Given the description of an element on the screen output the (x, y) to click on. 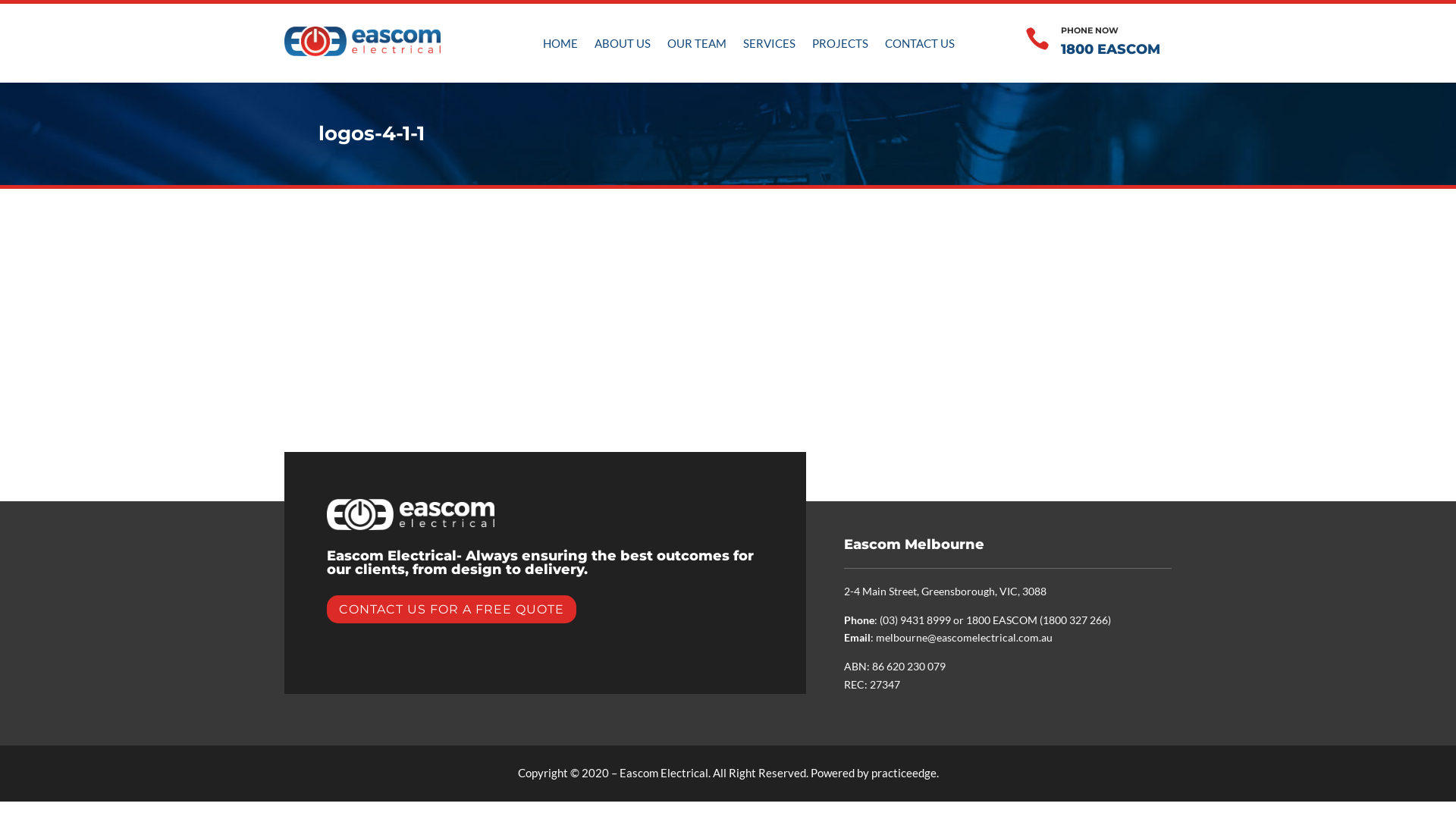
ABOUT US Element type: text (622, 45)
1800 EASCOM Element type: text (1001, 619)
PROJECTS Element type: text (840, 45)
CONTACT US FOR A FREE QUOTE Element type: text (451, 609)
1800 327 266 Element type: text (1074, 619)
practiceedge Element type: text (902, 772)
OUR TEAM Element type: text (696, 45)
CONTACT US Element type: text (919, 45)
melbourne@eascomelectrical.com.au Element type: text (963, 636)
(03) 9431 8999 Element type: text (914, 619)
SERVICES Element type: text (769, 45)
HOME Element type: text (559, 45)
1800 EASCOM Element type: text (1110, 48)
